Given the description of an element on the screen output the (x, y) to click on. 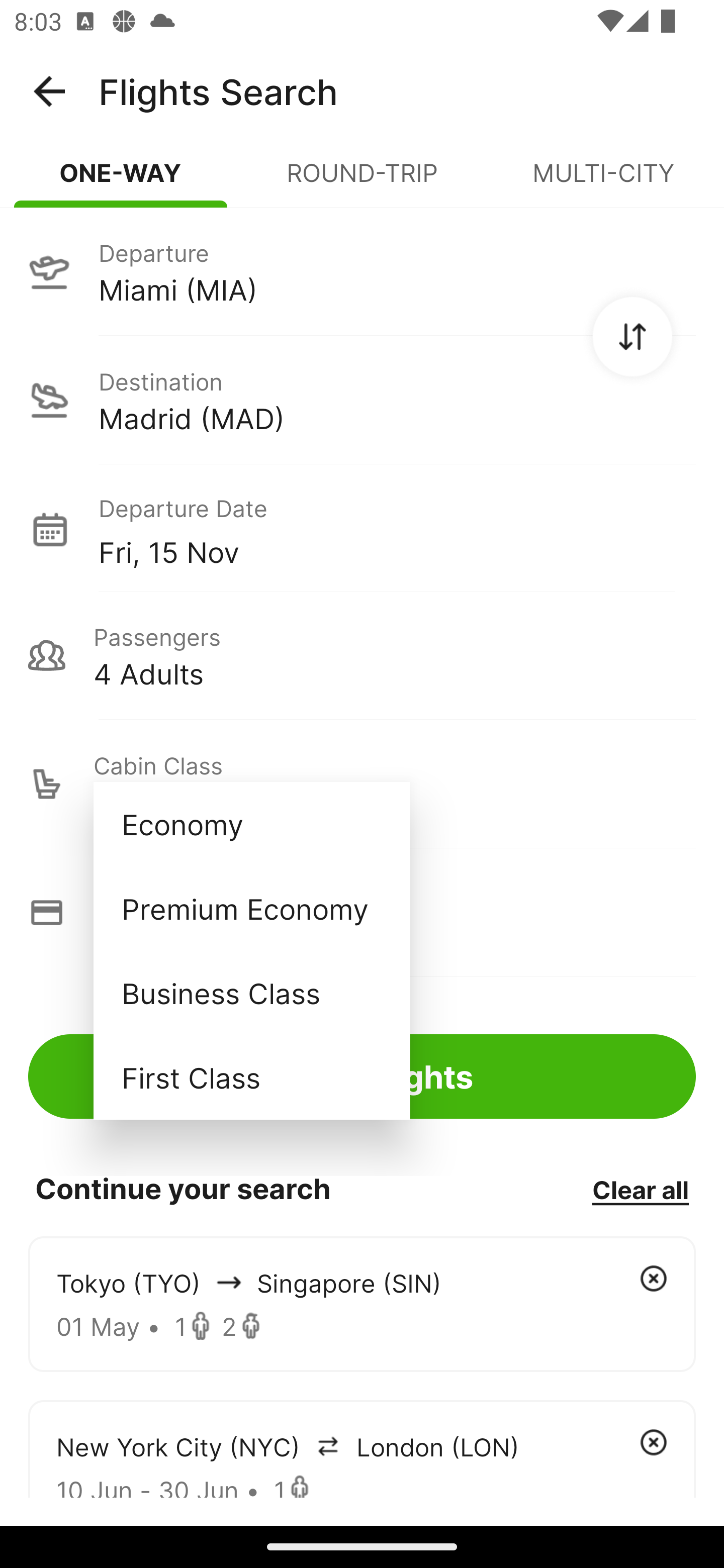
Economy (251, 824)
Premium Economy (251, 908)
Business Class (251, 992)
First Class (251, 1076)
